Given the description of an element on the screen output the (x, y) to click on. 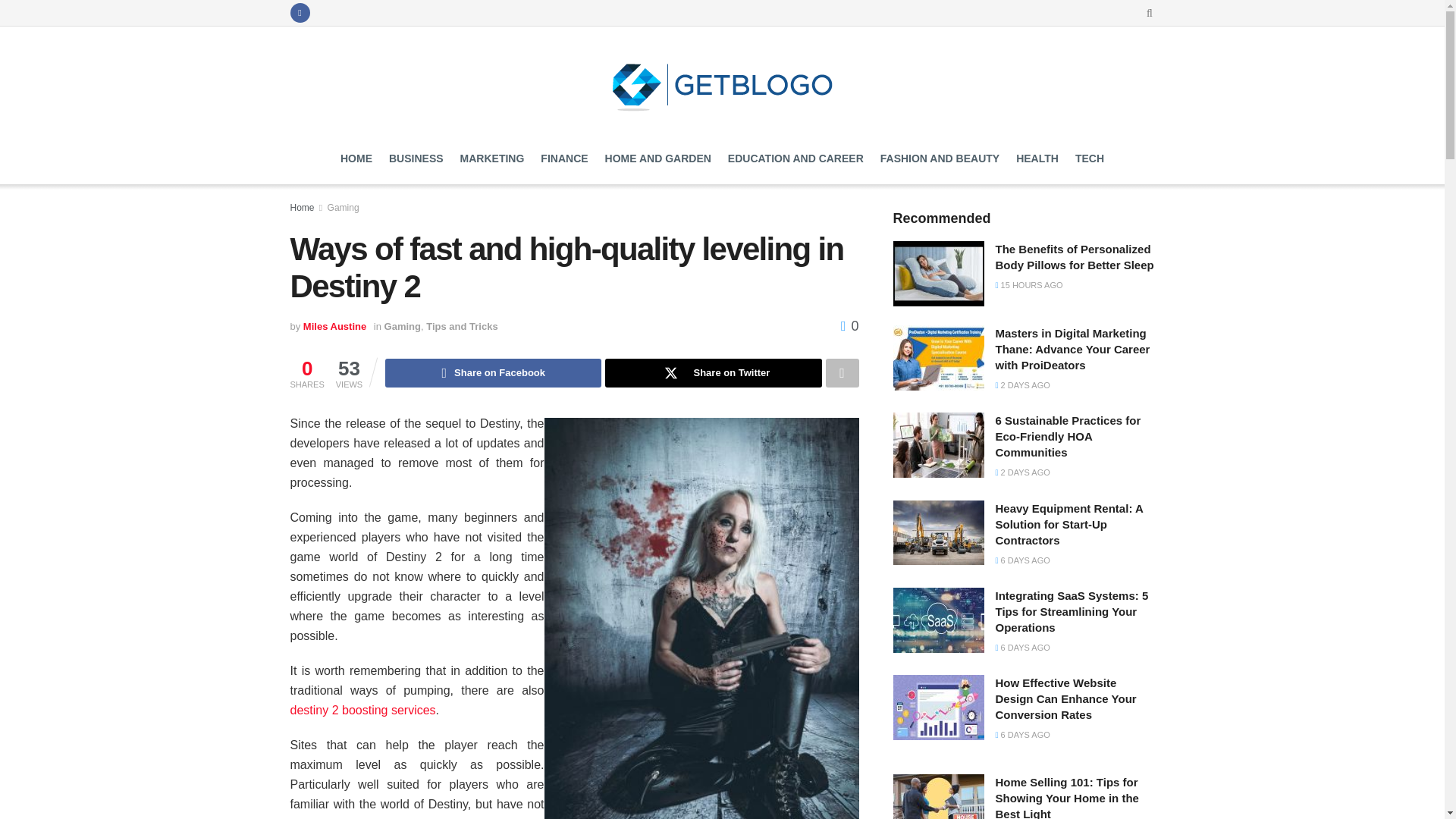
Home (301, 207)
0 (850, 325)
Share on Facebook (493, 372)
MARKETING (492, 158)
Miles Austine (334, 326)
FINANCE (564, 158)
FASHION AND BEAUTY (939, 158)
BUSINESS (416, 158)
destiny 2 boosting services (362, 709)
Gaming (343, 207)
